Given the description of an element on the screen output the (x, y) to click on. 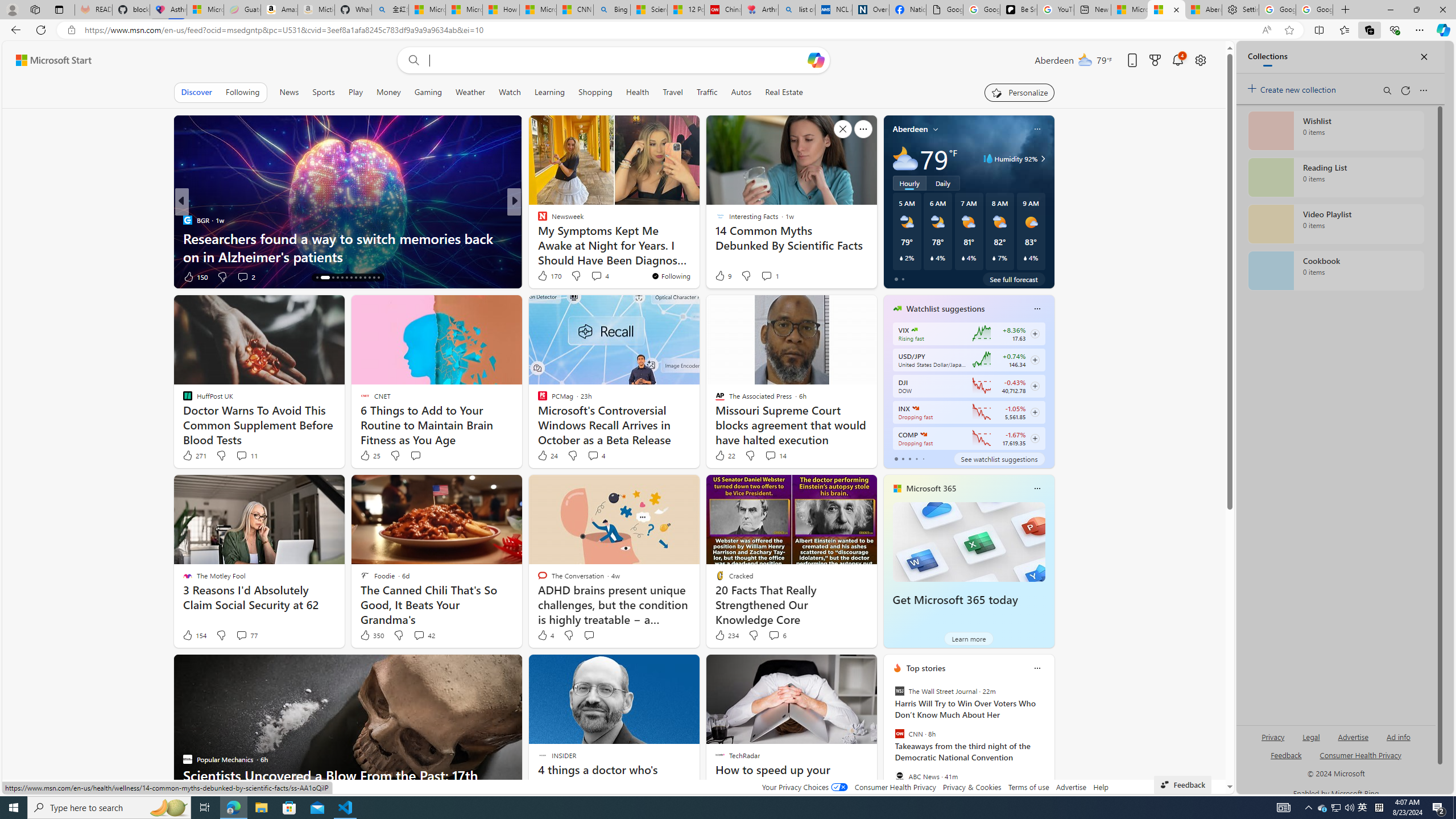
View comments 4 Comment (592, 455)
AutomationID: tab-17 (337, 277)
AutomationID: tab-14 (317, 277)
TODAY (537, 219)
